Given the description of an element on the screen output the (x, y) to click on. 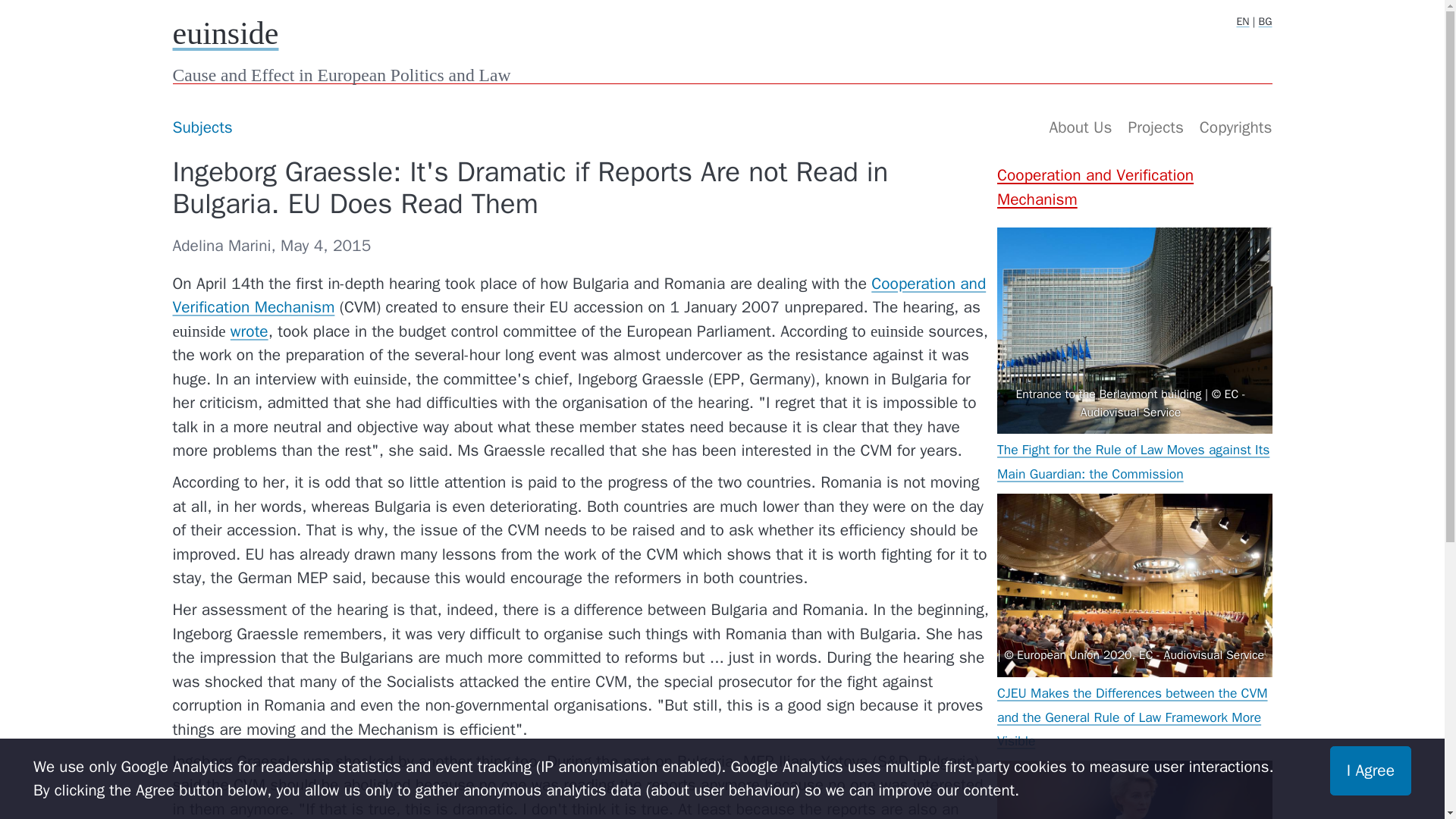
wrote (248, 331)
euinside (226, 32)
Subjects (202, 128)
Cooperation and Verification Mechanism (580, 294)
